Given the description of an element on the screen output the (x, y) to click on. 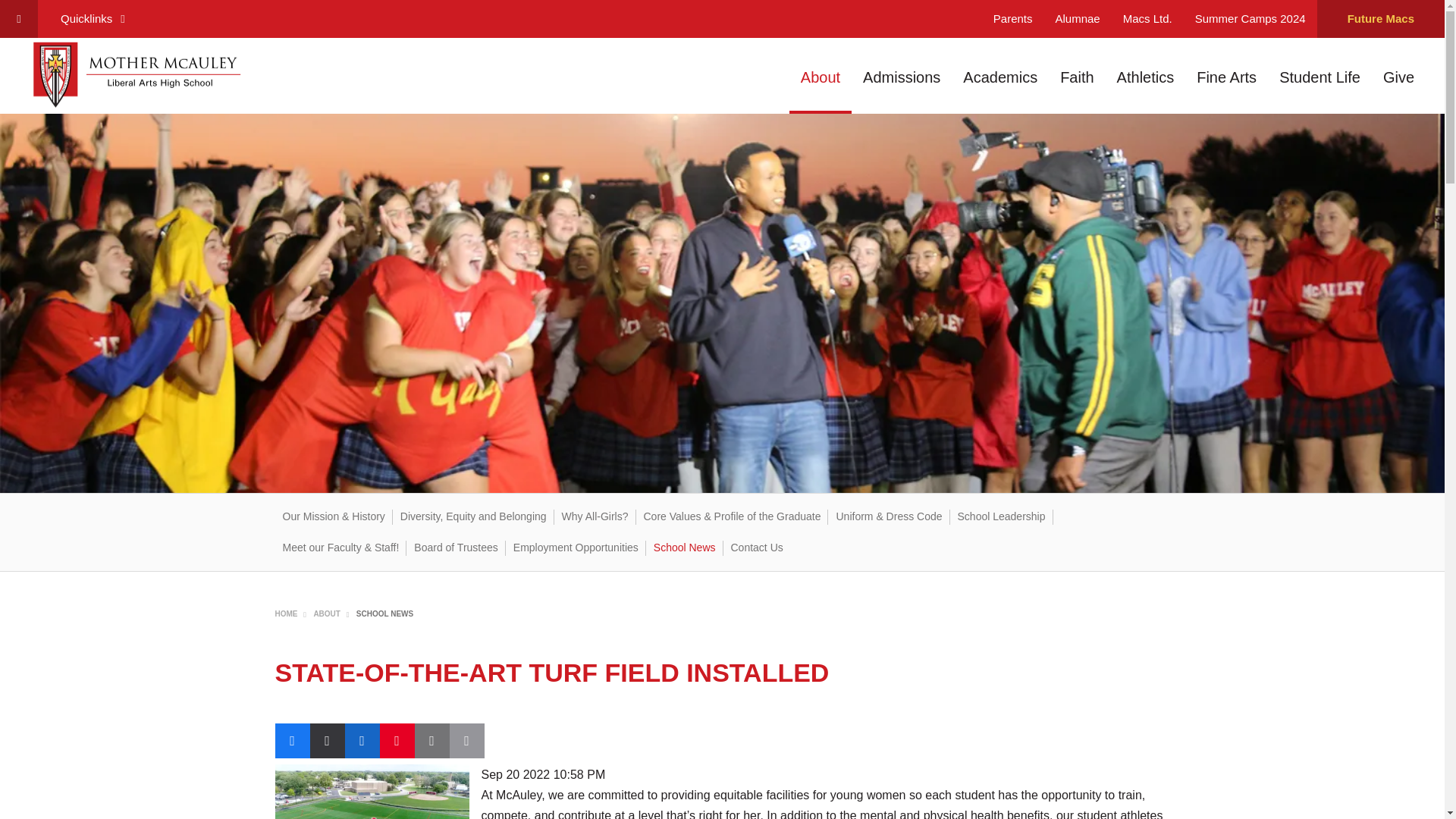
Share to LinkedIn (360, 740)
Share to Twitter (325, 740)
Print this page (465, 740)
Share to Facebook (291, 740)
Share to Email (430, 740)
Share to Pinterest (395, 740)
